Given the description of an element on the screen output the (x, y) to click on. 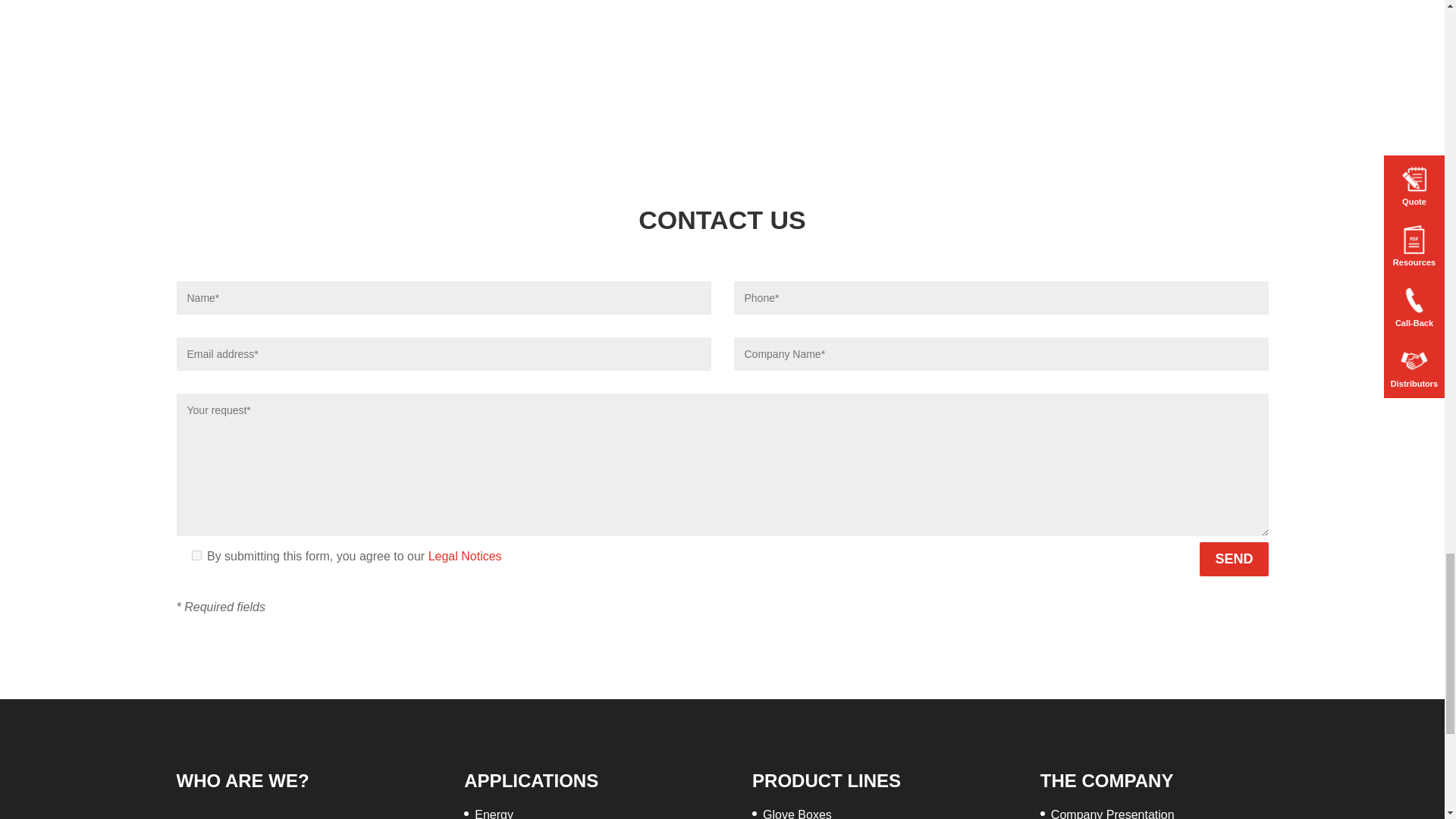
Send (1233, 559)
1 (195, 555)
